Given the description of an element on the screen output the (x, y) to click on. 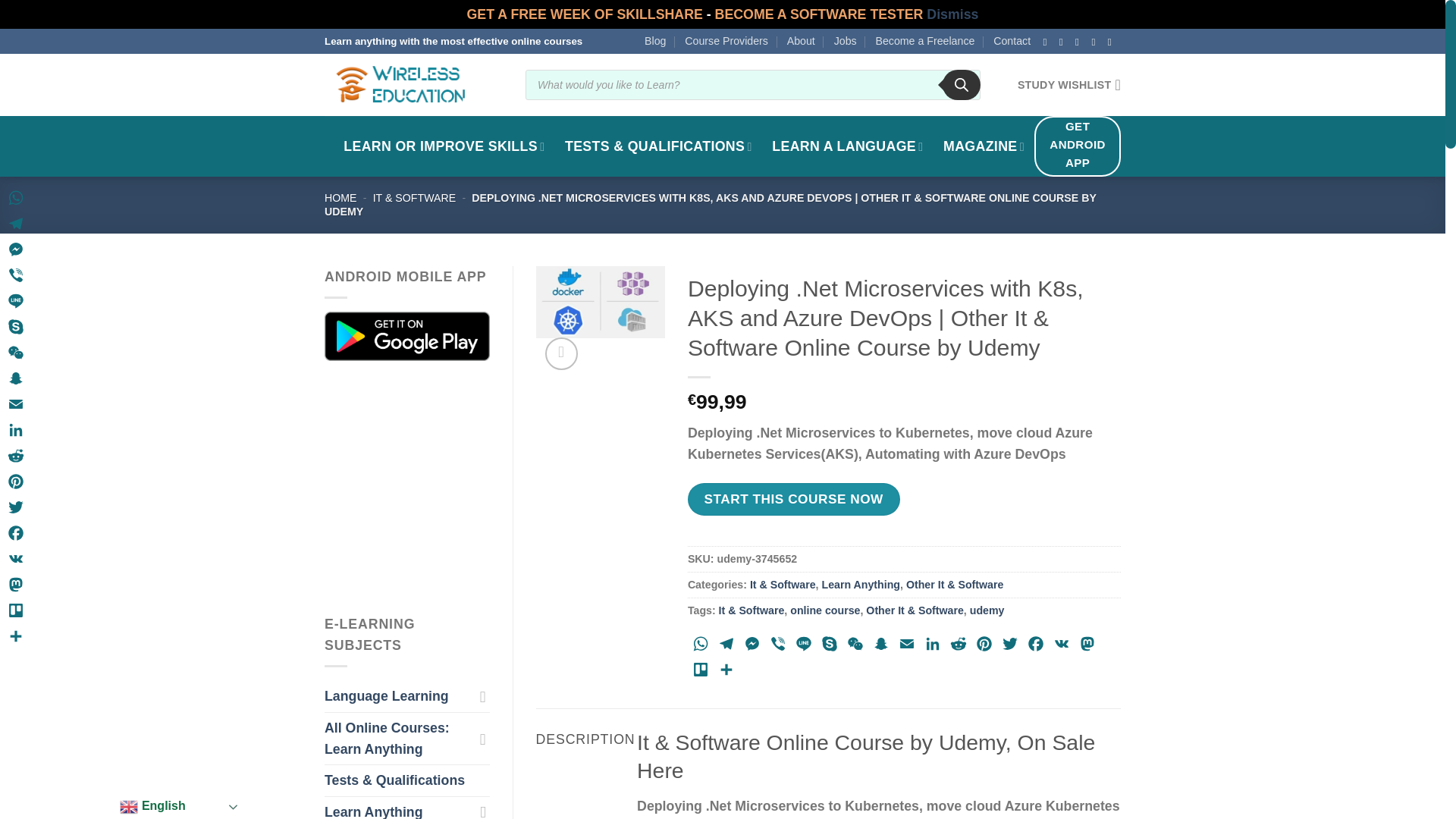
Skype (829, 646)
Download our Mobile App Now (406, 335)
LEARN OR IMPROVE SKILLS (443, 145)
Become a Freelance (924, 41)
STUDY WISHLIST (1069, 84)
Course Providers (726, 41)
Advertisement (453, 486)
MOOC (443, 145)
Line (803, 646)
WeChat (855, 646)
Contact (1011, 41)
Viber (777, 646)
Dismiss (952, 14)
GET A FREE WEEK OF SKILLSHARE (586, 14)
